Given the description of an element on the screen output the (x, y) to click on. 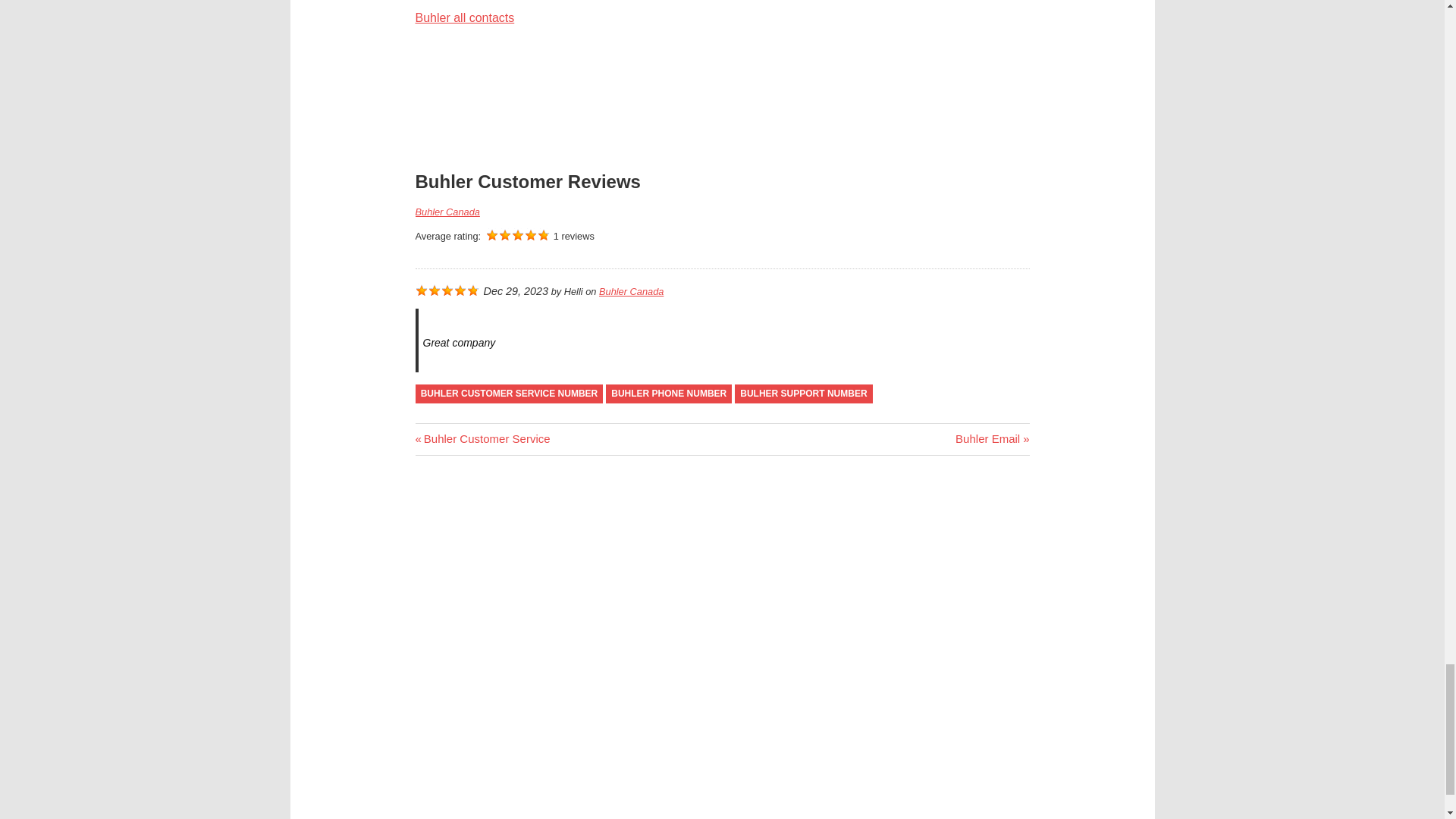
BULHER SUPPORT NUMBER (803, 393)
Buhler Canada (482, 438)
Buhler Canada (630, 291)
Buhler all contacts (447, 211)
BUHLER CUSTOMER SERVICE NUMBER (992, 438)
BUHLER PHONE NUMBER (464, 17)
